Given the description of an element on the screen output the (x, y) to click on. 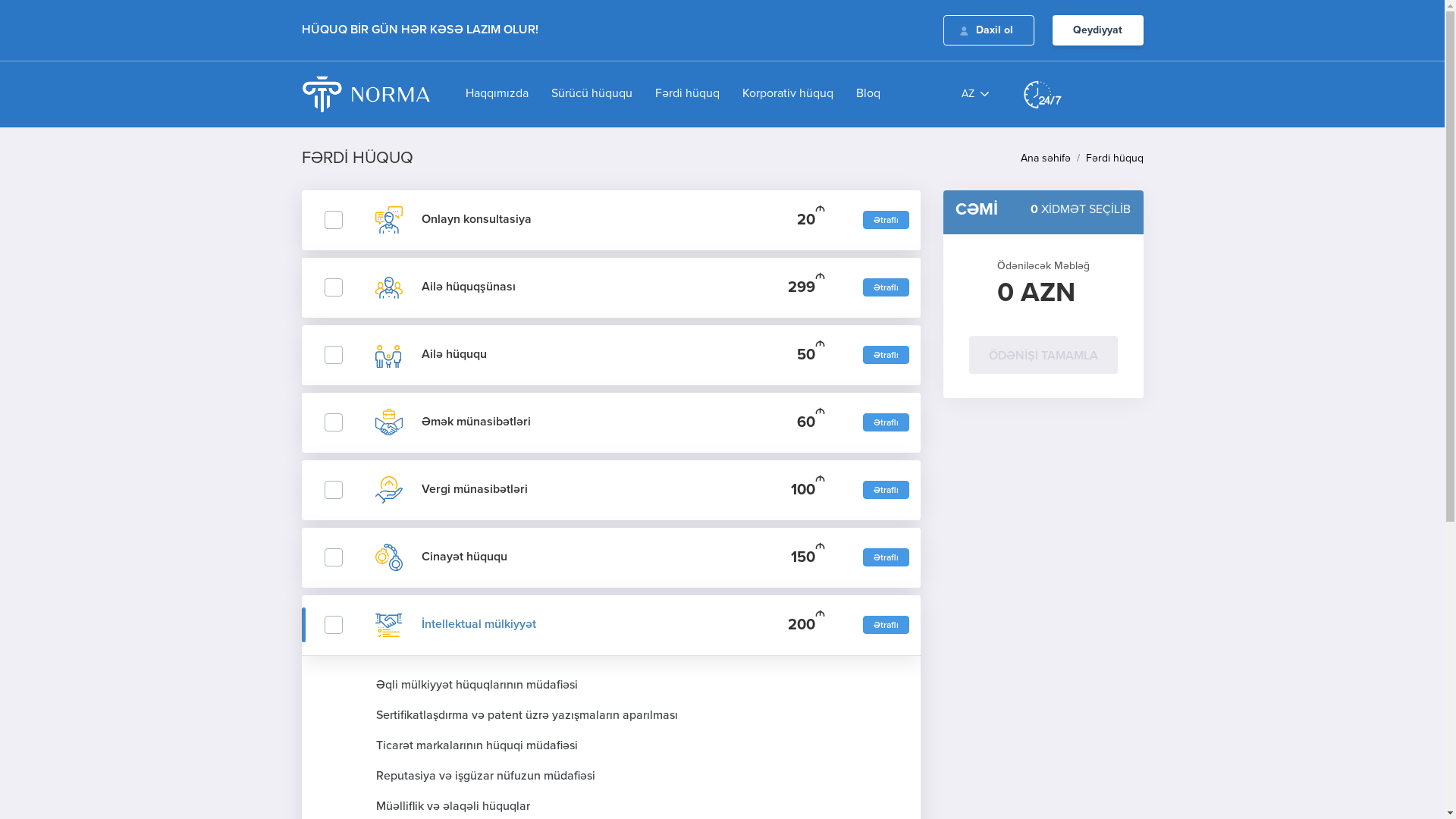
Qeydiyyat Element type: text (1097, 30)
Qeydiyyat Element type: text (1097, 30)
Daxil ol Element type: text (988, 30)
AZ Element type: text (974, 93)
Bloq Element type: text (856, 94)
